Given the description of an element on the screen output the (x, y) to click on. 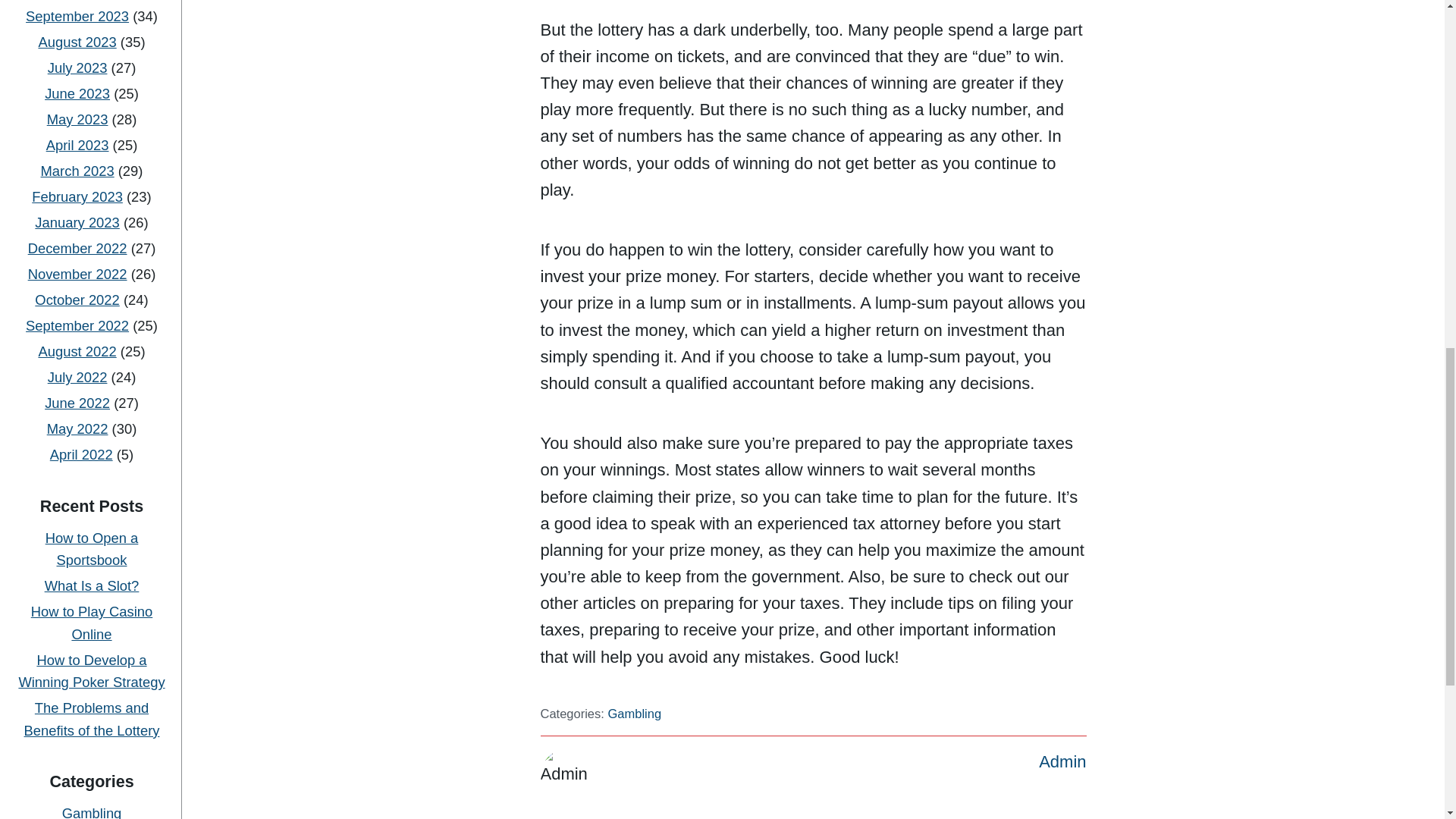
Gambling (92, 424)
What Is a Slot? (92, 197)
How to Play Casino Online (91, 234)
How to Open a Sportsbook (91, 160)
April 2022 (81, 66)
May 2022 (76, 40)
Admin (1062, 761)
keluaran sgp (91, 695)
taruhan bola (91, 474)
togel dana (91, 575)
